Given the description of an element on the screen output the (x, y) to click on. 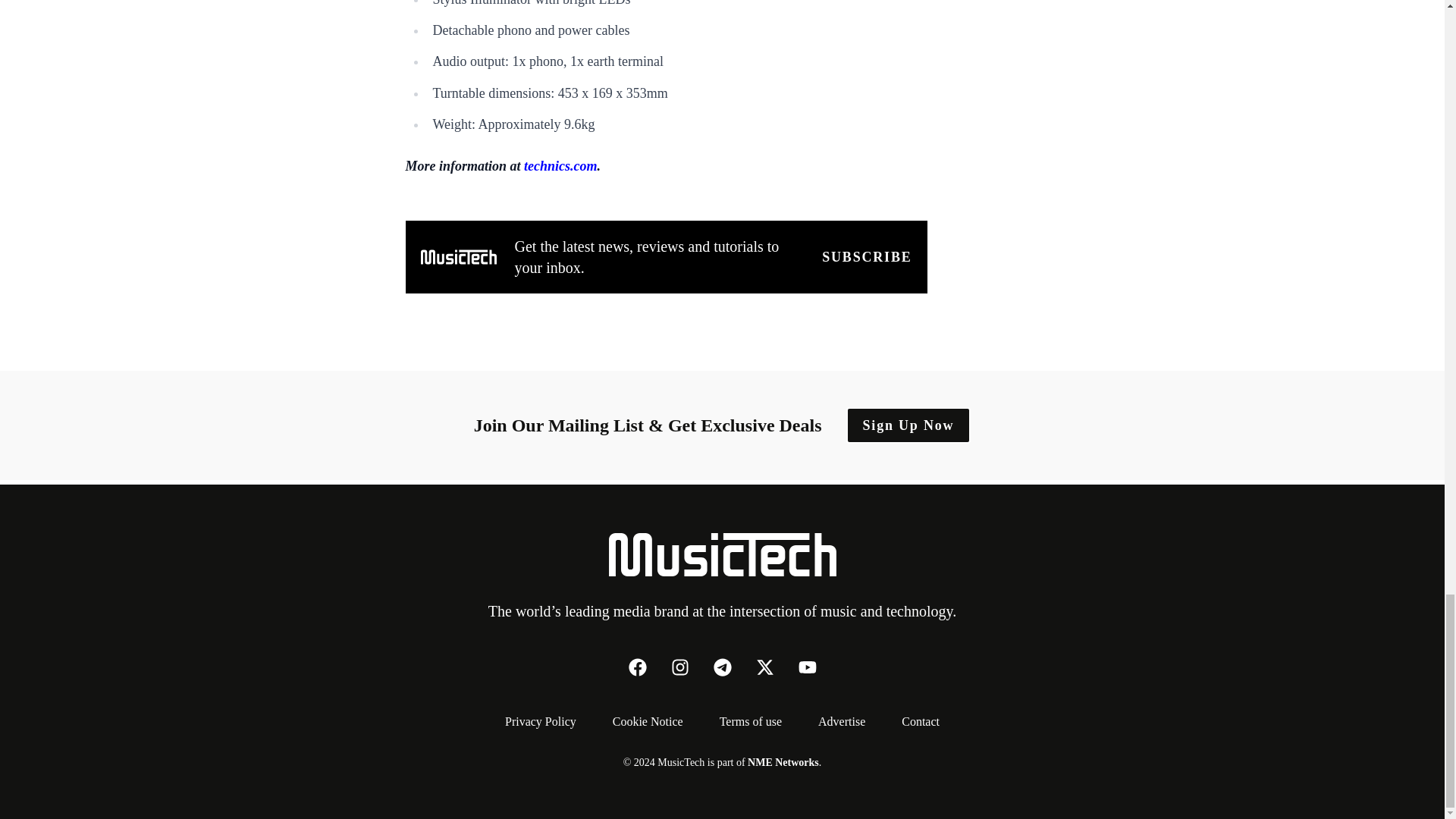
SUBSCRIBE (866, 256)
Join our mailing list (866, 256)
Sign Up Now (908, 425)
technics.com (560, 165)
